Given the description of an element on the screen output the (x, y) to click on. 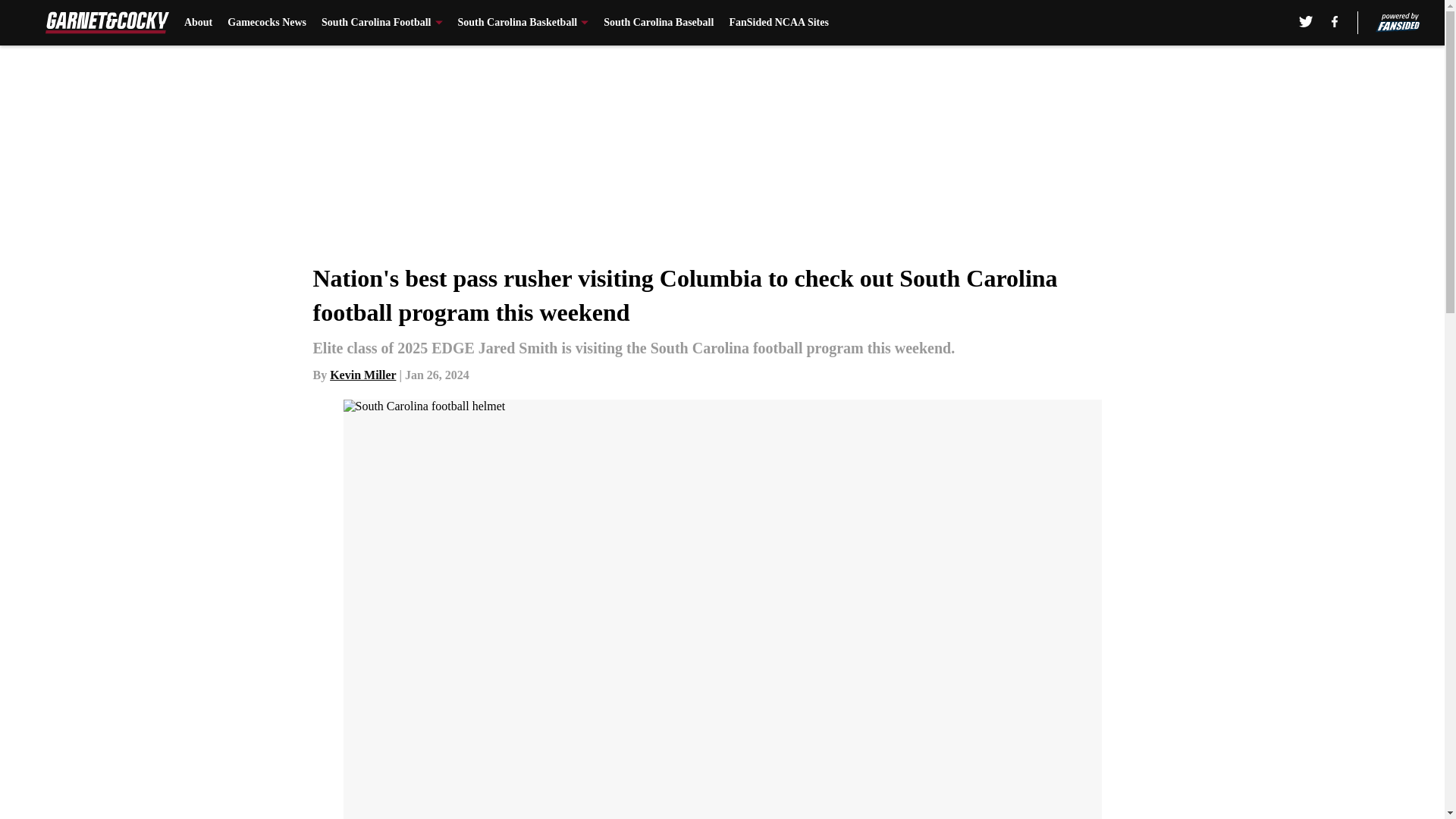
About (198, 22)
FanSided NCAA Sites (778, 22)
Gamecocks News (266, 22)
Kevin Miller (363, 374)
South Carolina Baseball (658, 22)
